Given the description of an element on the screen output the (x, y) to click on. 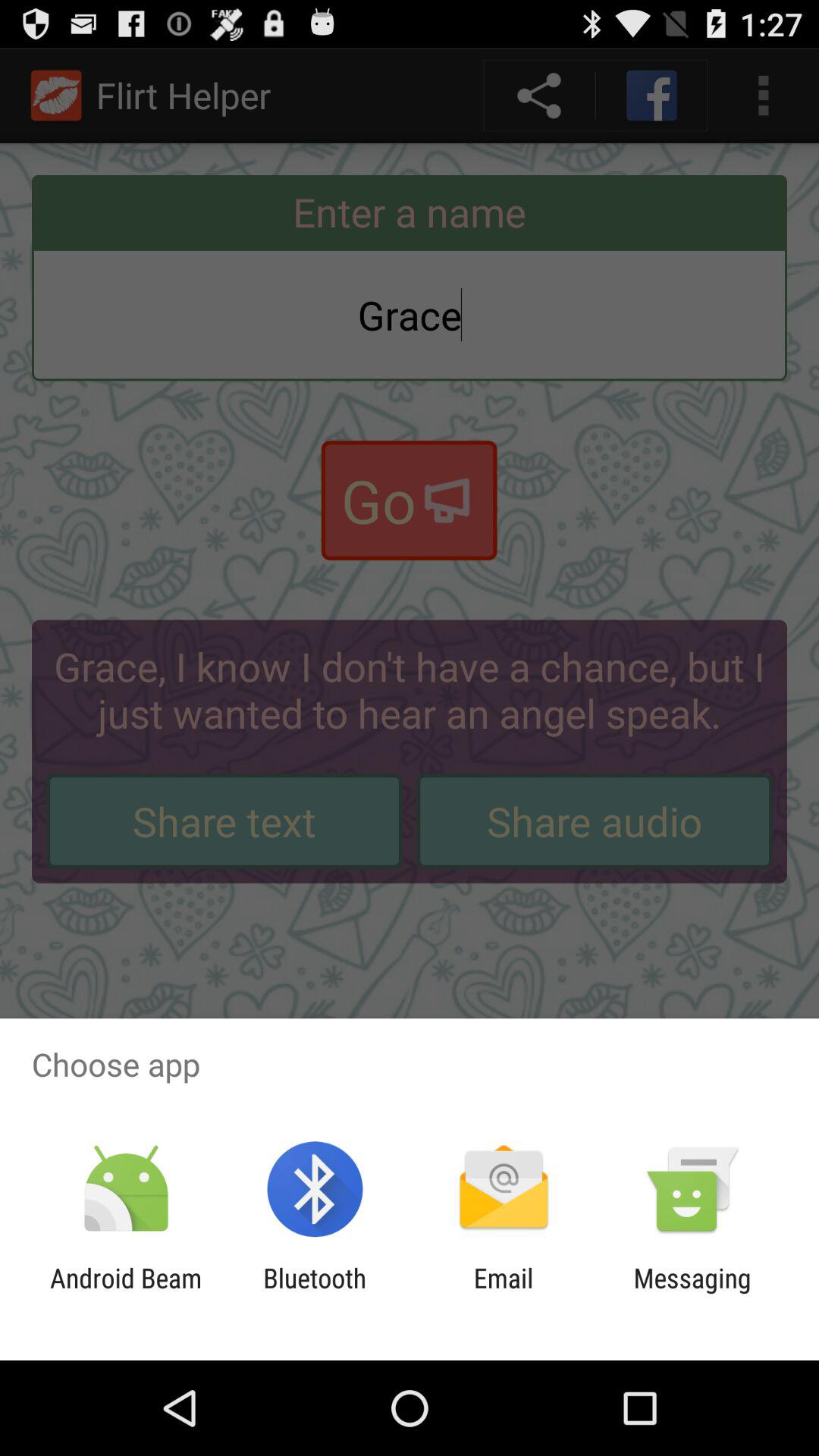
open the app to the left of email (314, 1293)
